Given the description of an element on the screen output the (x, y) to click on. 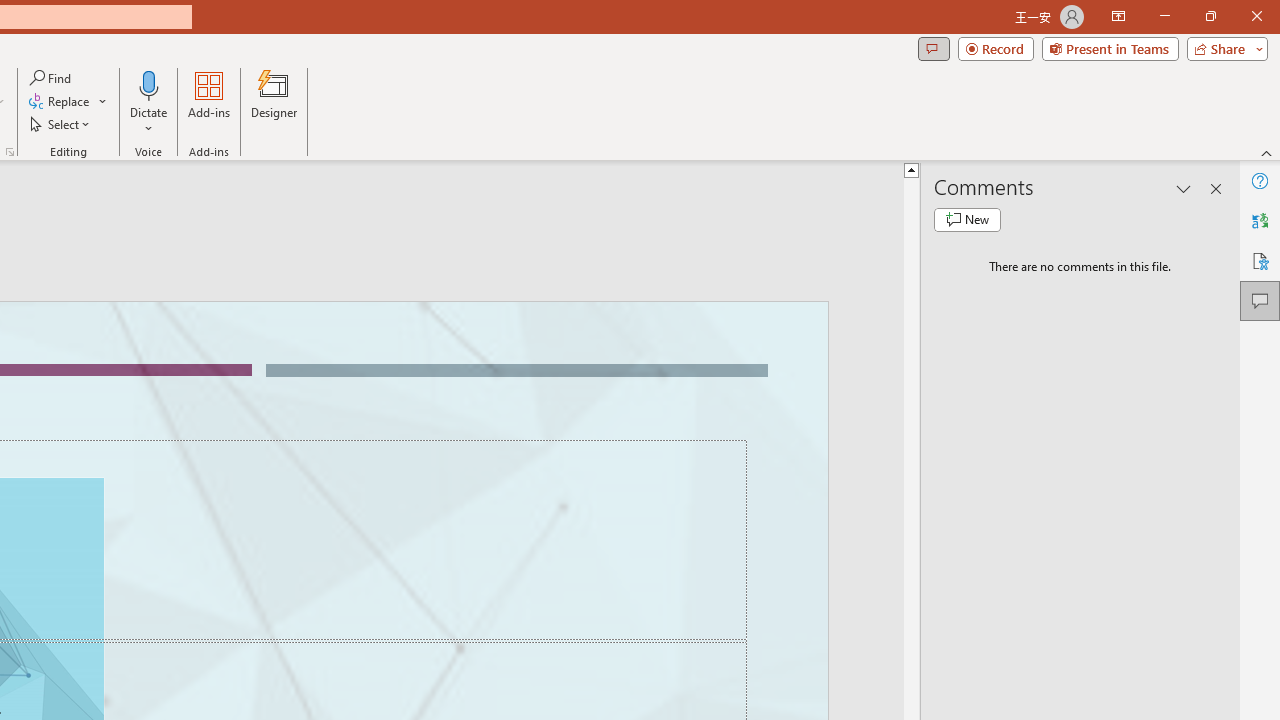
Dictate (149, 84)
More Options (149, 121)
Present in Teams (1109, 48)
Replace... (60, 101)
Record (995, 48)
Accessibility (1260, 260)
Close (1256, 16)
Minimize (1164, 16)
Dictate (149, 102)
Line up (911, 169)
Comments (933, 48)
Restore Down (1210, 16)
Translator (1260, 220)
Format Object... (9, 151)
Ribbon Display Options (1118, 16)
